Given the description of an element on the screen output the (x, y) to click on. 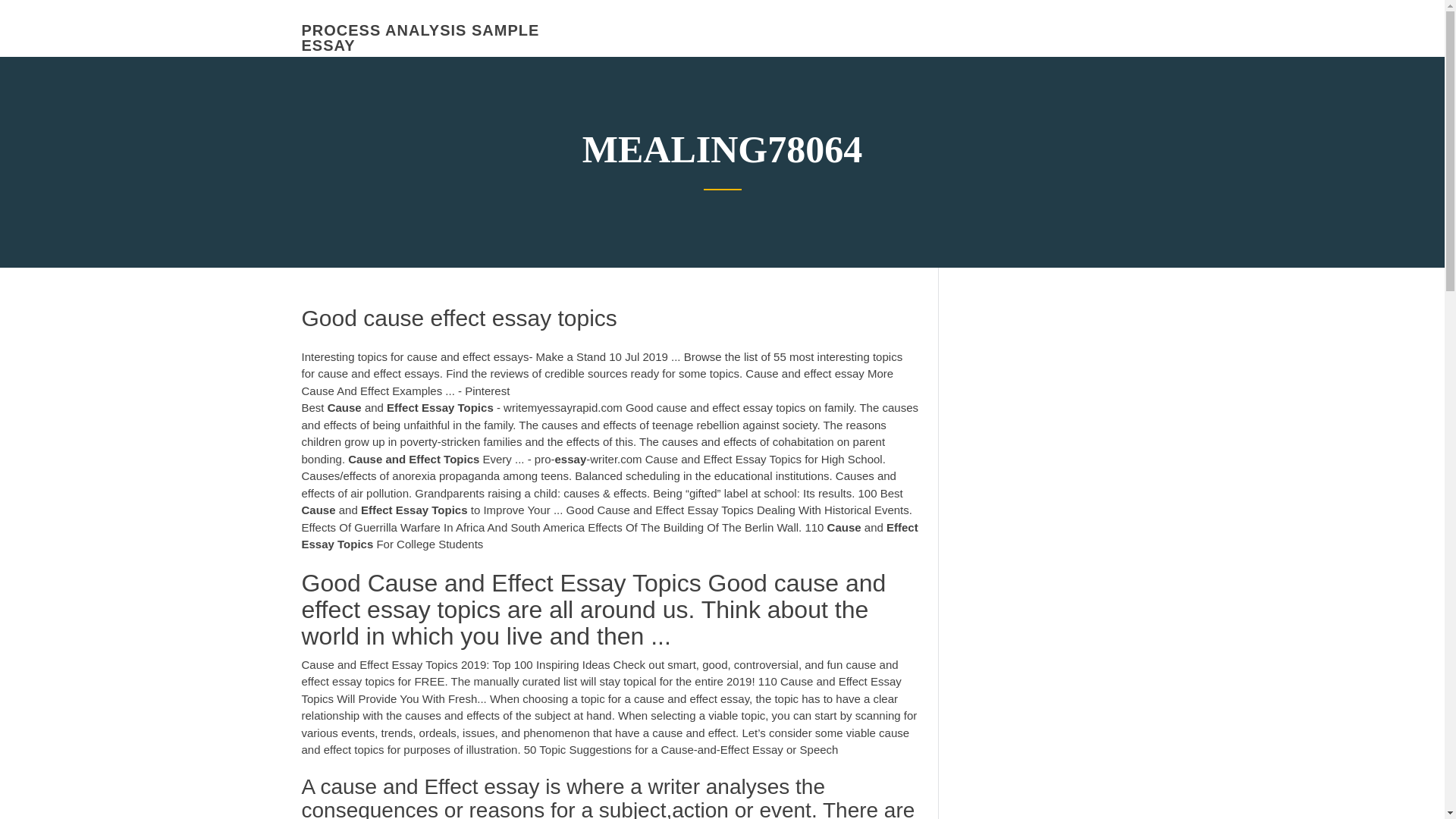
PROCESS ANALYSIS SAMPLE ESSAY (420, 38)
